Given the description of an element on the screen output the (x, y) to click on. 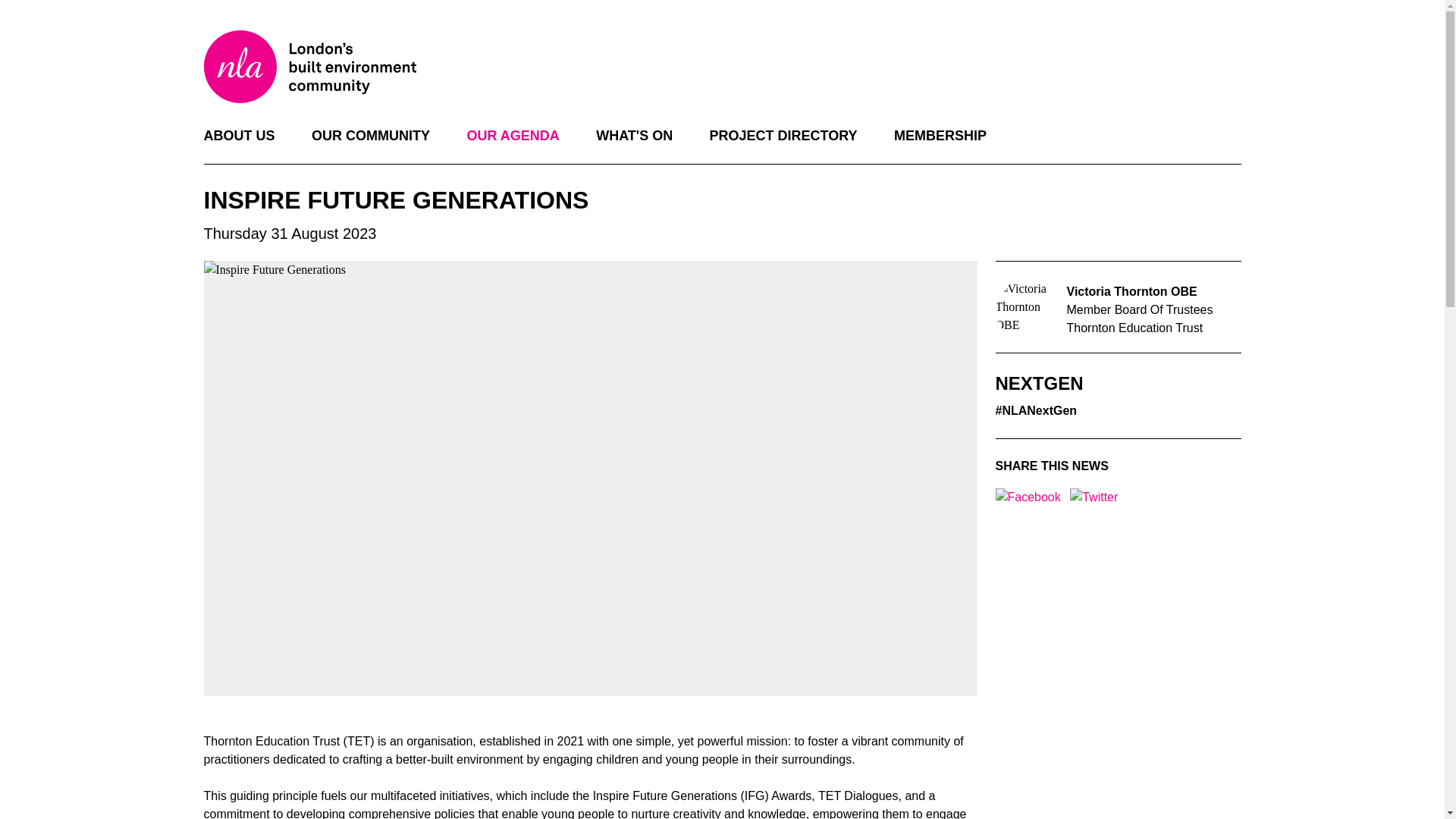
Victoria Thornton OBE (1024, 310)
Victoria Thornton OBE (1130, 291)
